Given the description of an element on the screen output the (x, y) to click on. 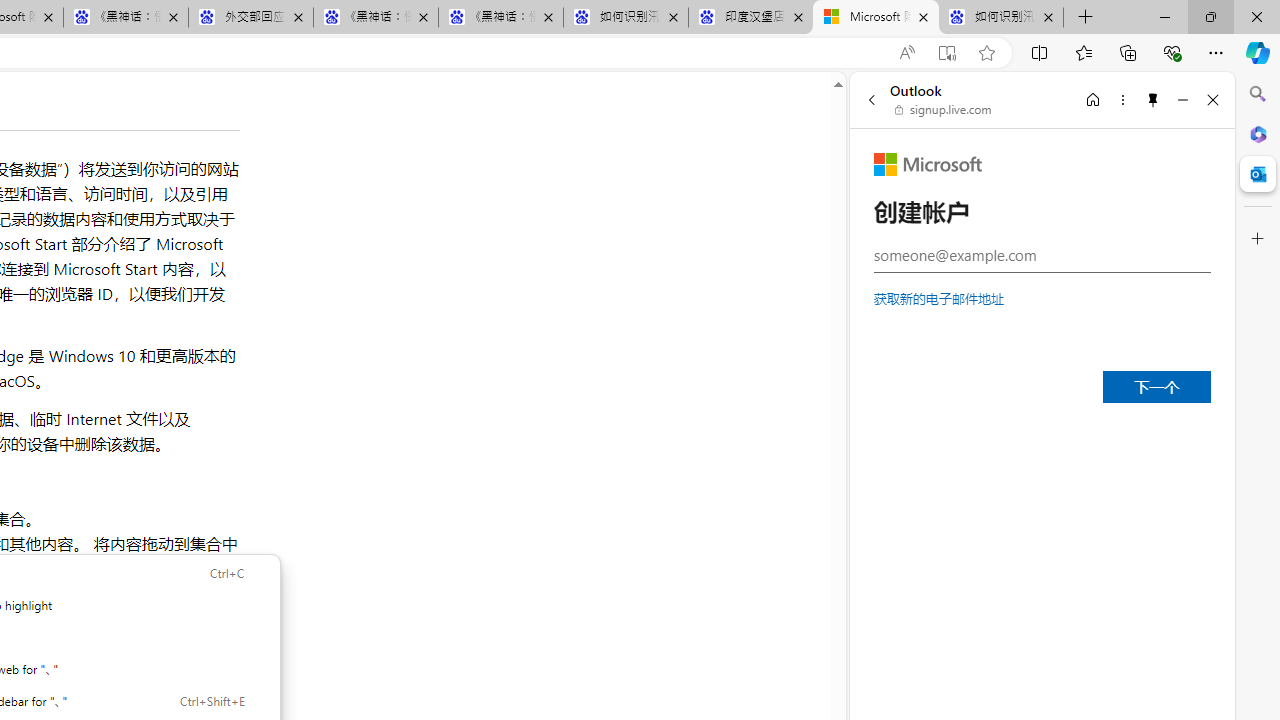
signup.live.com (943, 110)
